Given the description of an element on the screen output the (x, y) to click on. 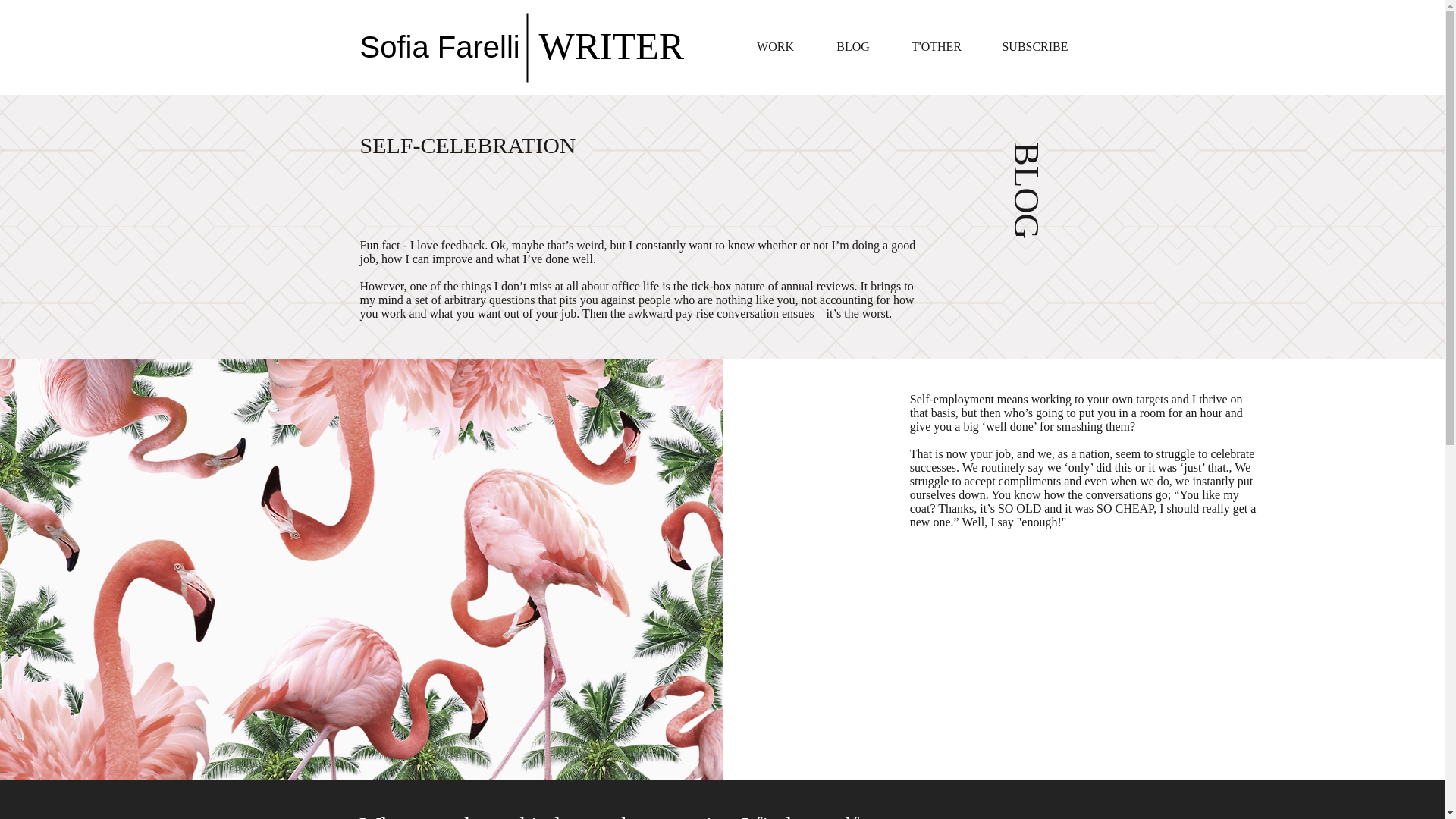
WRITER (611, 46)
T'OTHER (935, 46)
BLOG (853, 46)
Sofia Farelli (439, 46)
SUBSCRIBE (1034, 46)
WORK (775, 46)
